Given the description of an element on the screen output the (x, y) to click on. 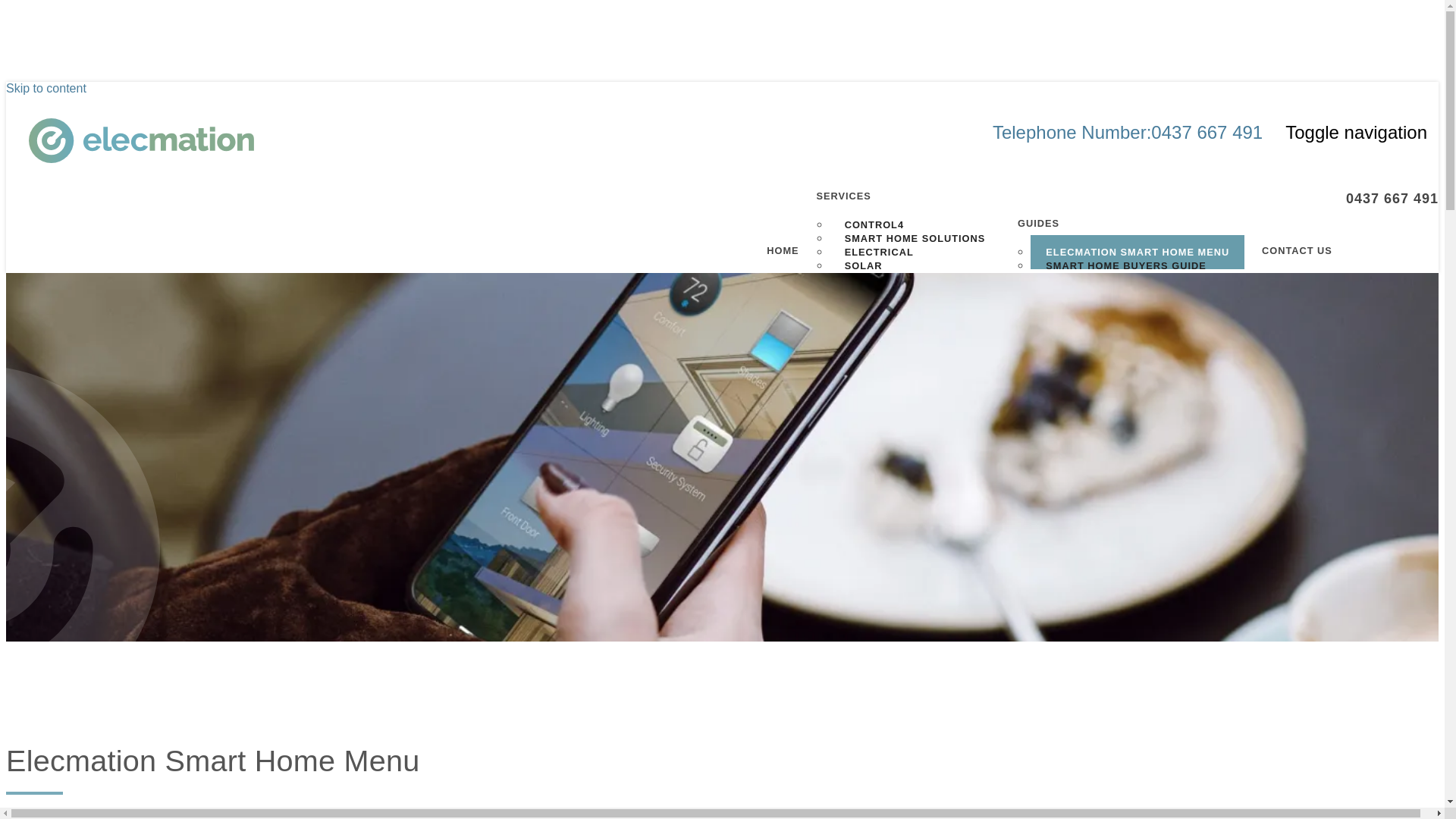
ELECTRICAL Element type: text (878, 252)
CONTROL4 Element type: text (874, 224)
Telephone Number:0437 667 491 Element type: text (1127, 132)
SOLAR Element type: text (863, 265)
 CONTACT US Element type: text (1288, 258)
SMART HOME SOLUTIONS Element type: text (915, 238)
ELECMATION SMART HOME MENU Element type: text (1137, 252)
 GUIDES Element type: text (1122, 230)
SMART HOME BUYERS GUIDE Element type: text (1125, 265)
Toggle navigation Element type: text (1356, 132)
 SERVICES Element type: text (900, 203)
Skip to content Element type: text (46, 87)
 HOME Element type: text (774, 258)
0437 667 491 Element type: text (1385, 206)
